Given the description of an element on the screen output the (x, y) to click on. 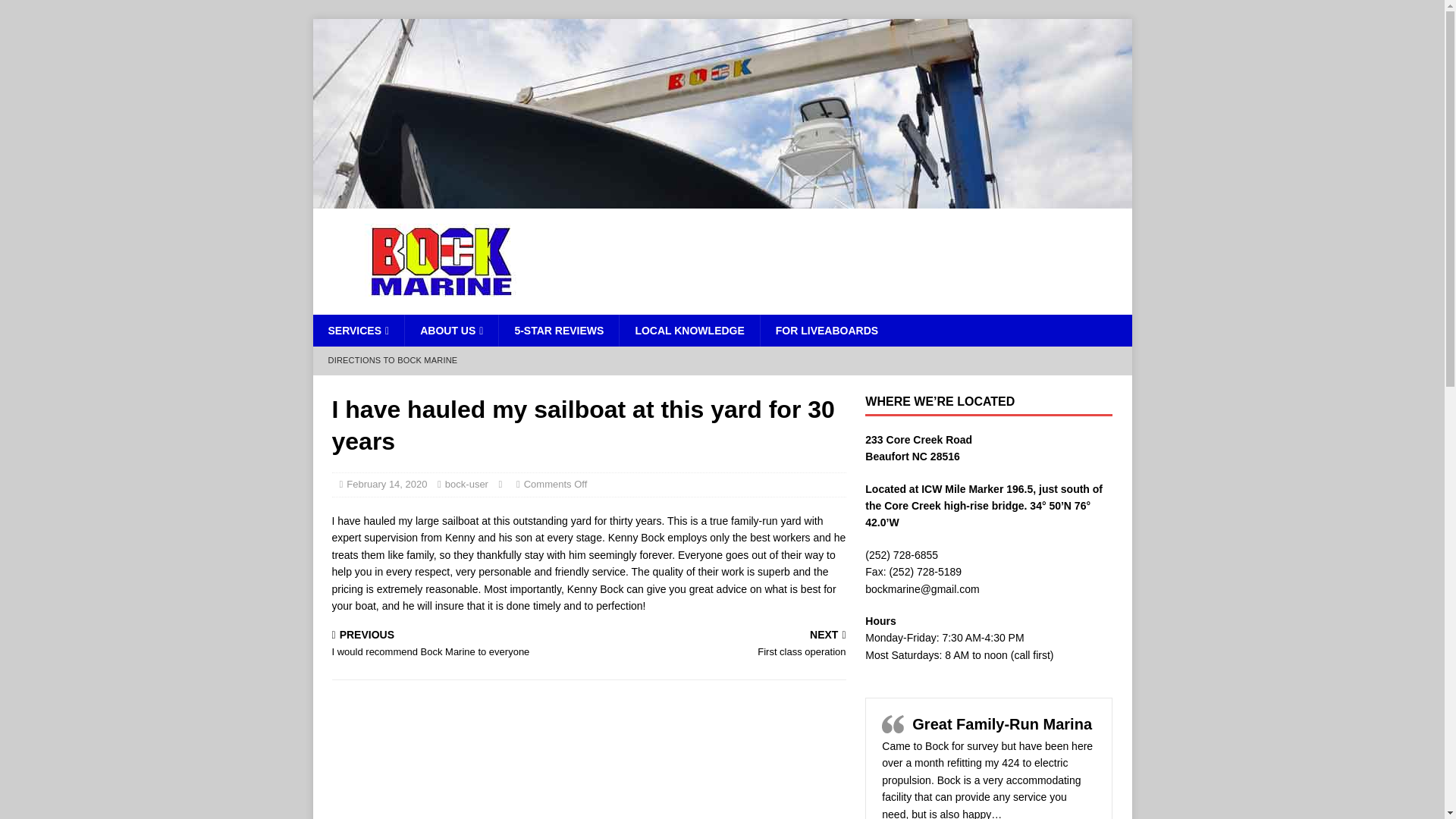
Great Family-Run Marina (457, 644)
DIRECTIONS TO BOCK MARINE (1002, 723)
5-STAR REVIEWS (392, 360)
bock-user (720, 644)
Bock Marine (557, 330)
February 14, 2020 (466, 483)
FOR LIVEABOARDS (722, 200)
LOCAL KNOWLEDGE (386, 483)
SERVICES (826, 330)
ABOUT US (688, 330)
